Given the description of an element on the screen output the (x, y) to click on. 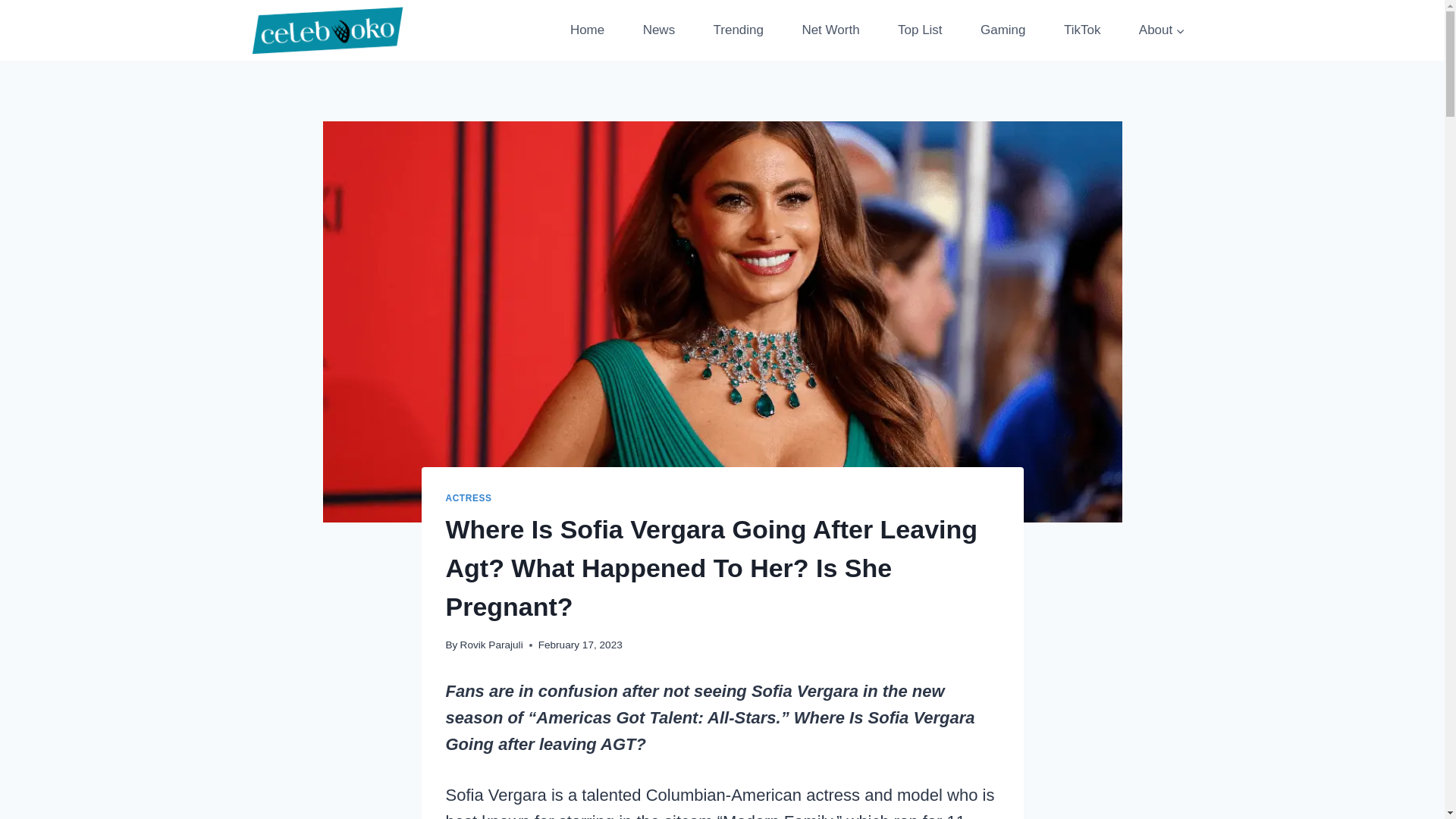
ACTRESS (468, 498)
Gaming (1002, 30)
Rovik Parajuli (491, 644)
About (1162, 30)
Net Worth (830, 30)
TikTok (1082, 30)
News (658, 30)
Home (587, 30)
Top List (919, 30)
